Given the description of an element on the screen output the (x, y) to click on. 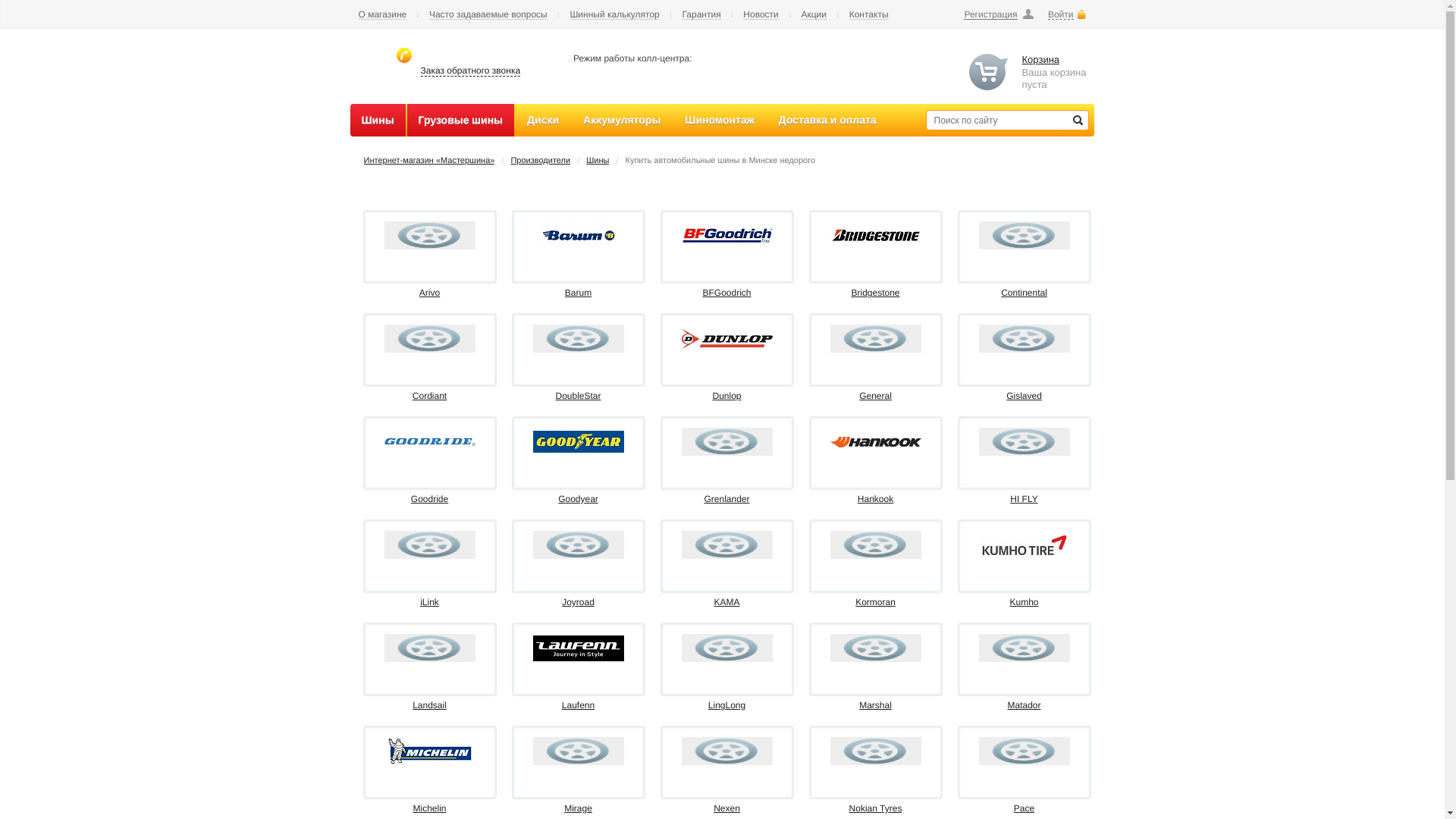
Goodride Element type: text (429, 498)
Goodyear Element type: hover (577, 441)
Landsail Element type: hover (428, 647)
DoubleStar Element type: hover (577, 338)
DoubleStar Element type: text (577, 395)
General Element type: text (875, 395)
HI FLY Element type: text (1023, 498)
Pace Element type: text (1023, 808)
Mirage Element type: text (578, 808)
Arivo Element type: hover (428, 235)
iLink Element type: text (429, 601)
KAMA Element type: text (726, 601)
Pace Element type: hover (1023, 751)
Grenlander Element type: hover (725, 441)
Kumho Element type: hover (1023, 545)
General Element type: hover (874, 338)
Landsail Element type: text (429, 704)
Kumho Element type: text (1023, 601)
Michelin Element type: hover (428, 751)
Matador Element type: hover (1023, 647)
LingLong Element type: hover (725, 647)
Kormoran Element type: hover (874, 544)
Hankook Element type: hover (874, 441)
Michelin Element type: text (428, 808)
LingLong Element type: text (726, 704)
Cordiant Element type: text (429, 395)
Marshal Element type: hover (874, 647)
Barum Element type: hover (578, 235)
Goodyear Element type: text (578, 498)
KAMA Element type: hover (725, 544)
Nokian Tyres Element type: hover (874, 751)
Goodride Element type: hover (428, 441)
Laufenn Element type: text (577, 704)
Nexen Element type: text (726, 808)
Marshal Element type: text (875, 704)
Matador Element type: text (1023, 704)
Bridgestone Element type: text (874, 292)
Bridgestone Element type: hover (874, 235)
BFGoodrich Element type: text (726, 292)
Gislaved Element type: hover (1023, 338)
Arivo Element type: text (429, 292)
Grenlander Element type: text (726, 498)
Nokian Tyres Element type: text (875, 808)
Mirage Element type: hover (577, 751)
Joyroad Element type: hover (577, 544)
Dunlop Element type: text (726, 395)
Hankook Element type: text (875, 498)
Laufenn Element type: hover (577, 648)
Nexen Element type: hover (725, 751)
Kormoran Element type: text (875, 601)
Barum Element type: text (577, 292)
BFGoodrich Element type: hover (725, 235)
iLink Element type: hover (428, 544)
Continental Element type: text (1024, 292)
HI FLY Element type: hover (1023, 441)
Continental Element type: hover (1023, 235)
Cordiant Element type: hover (428, 338)
Joyroad Element type: text (577, 601)
Dunlop Element type: hover (725, 338)
Gislaved Element type: text (1023, 395)
